Given the description of an element on the screen output the (x, y) to click on. 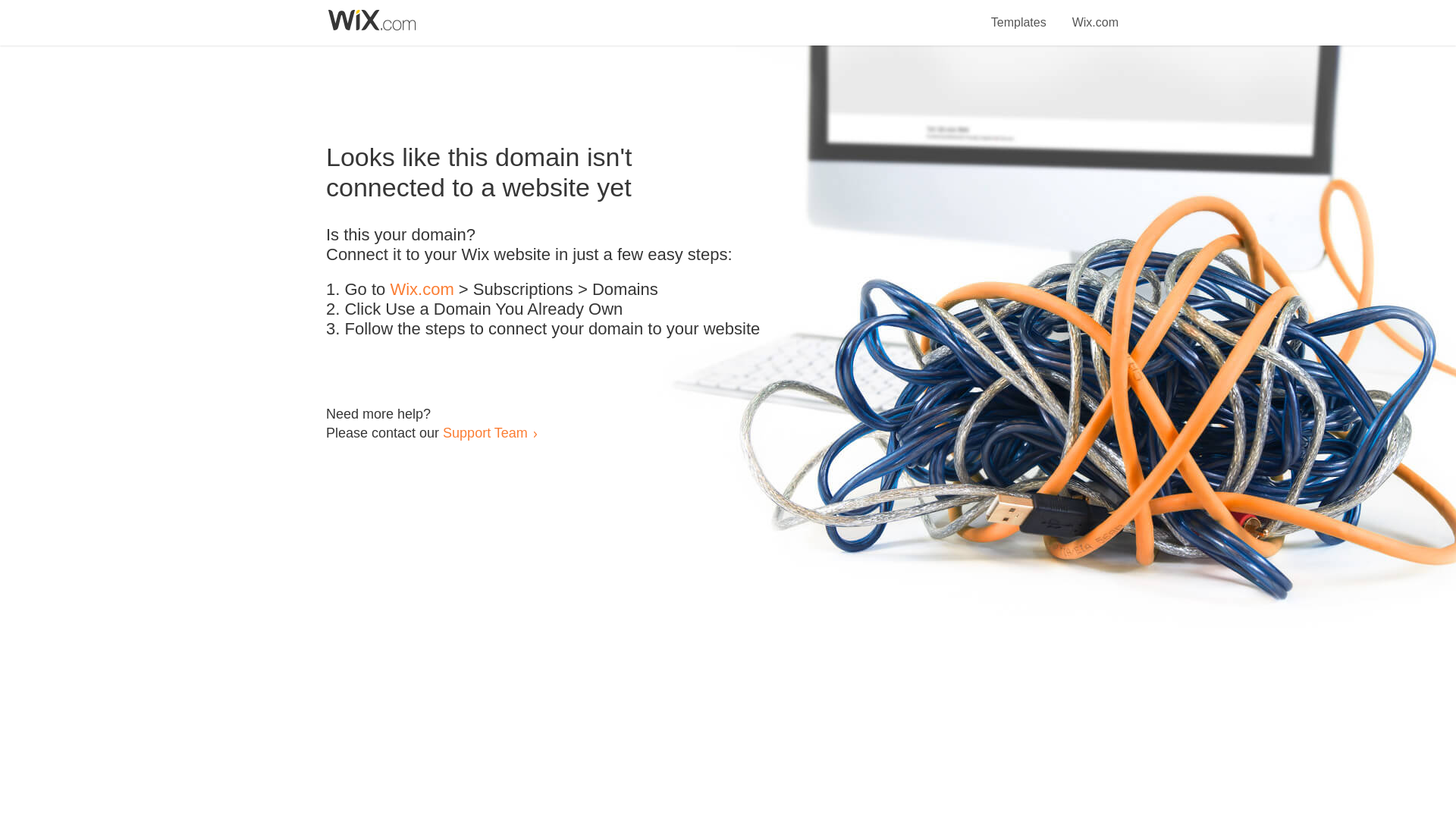
Wix.com (1095, 14)
Wix.com (421, 289)
Support Team (484, 432)
Templates (1018, 14)
